Given the description of an element on the screen output the (x, y) to click on. 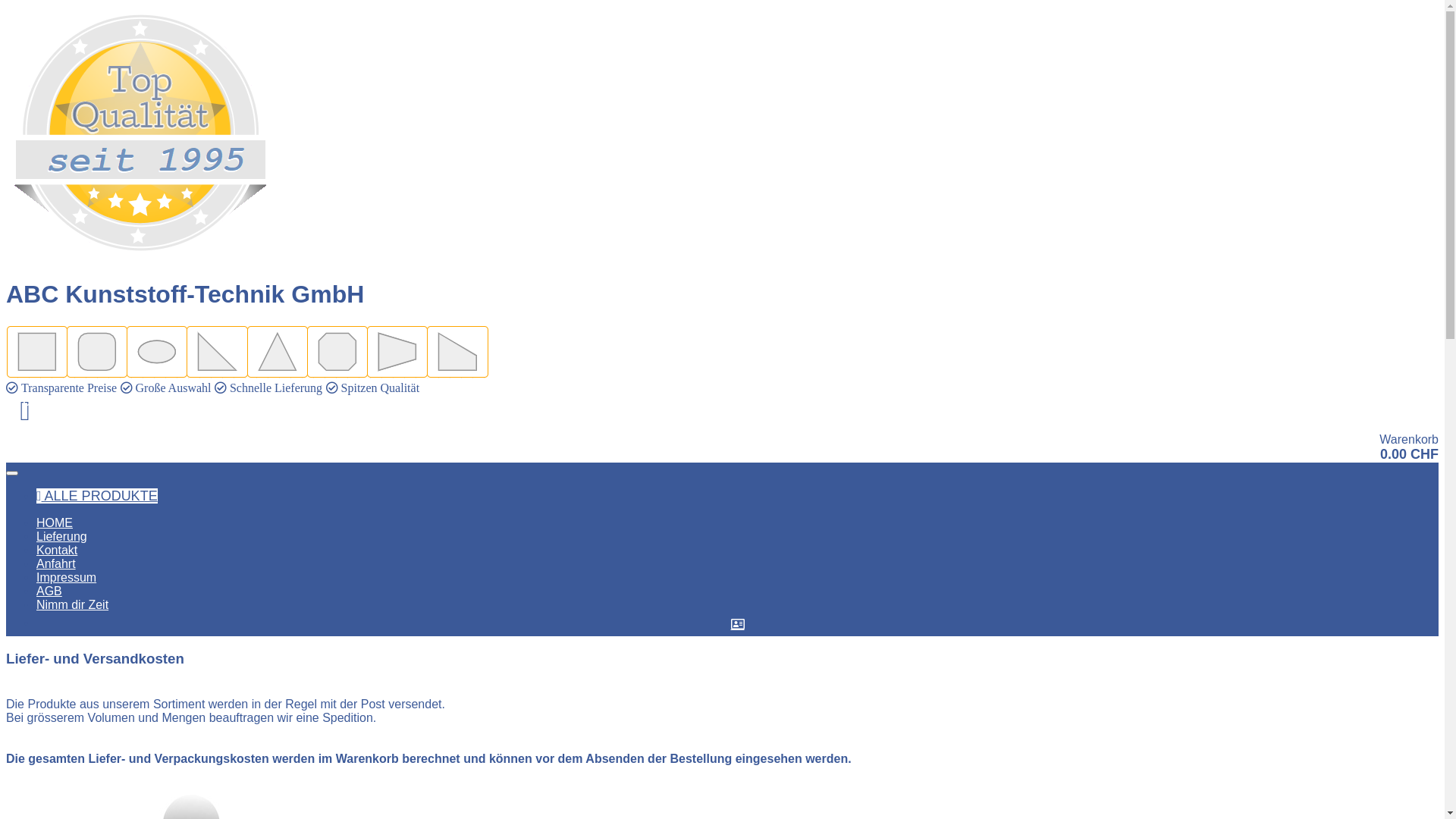
Impressum Element type: text (66, 577)
Kontakt Element type: text (56, 549)
HOME Element type: text (54, 522)
Nimm dir Zeit Element type: text (72, 604)
ALLE PRODUKTE Element type: text (96, 495)
AGB Element type: text (49, 590)
0
Warenkorb
0.00 CHF Element type: text (722, 428)
Lieferung Element type: text (61, 536)
Anfahrt Element type: text (55, 563)
